Given the description of an element on the screen output the (x, y) to click on. 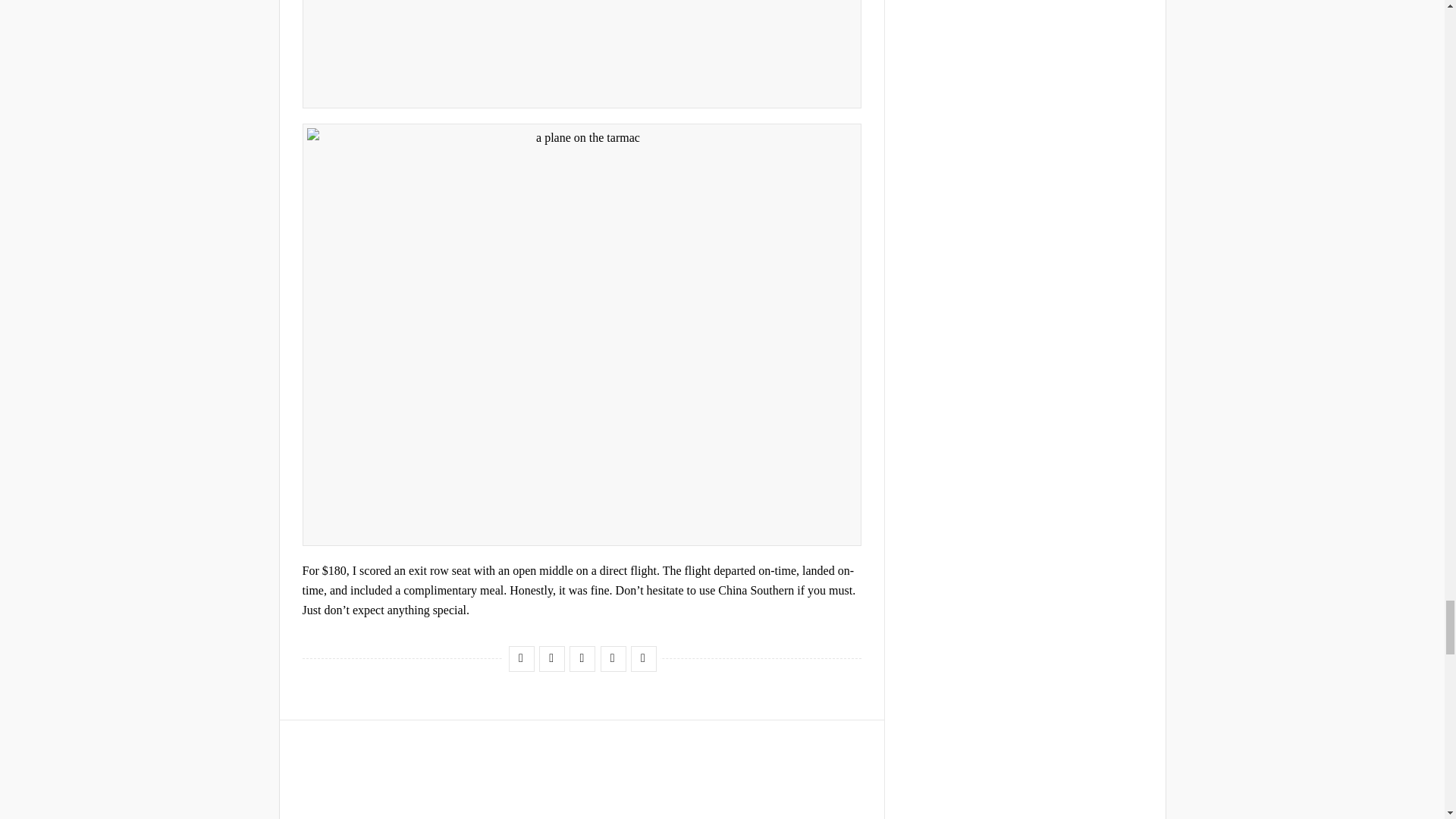
Share on Tumblr (642, 658)
Share on StumbleUpon (581, 658)
Share on Facebook (520, 658)
Share on Reddit (611, 658)
Share on Twitter (550, 658)
